Given the description of an element on the screen output the (x, y) to click on. 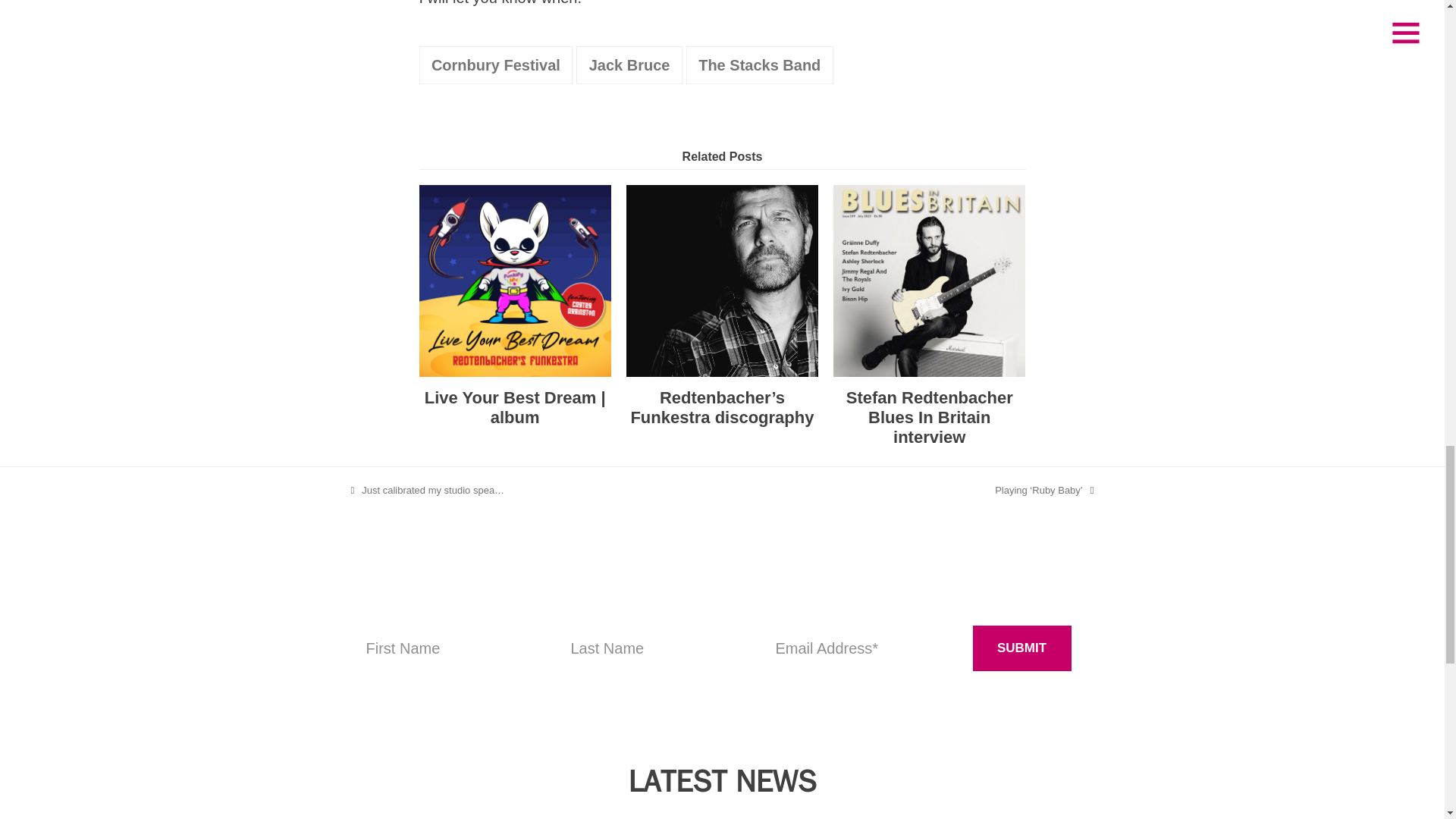
Jack Bruce (629, 64)
Stefan Redtenbacher Blues In Britain interview (929, 417)
Cornbury Festival (495, 64)
Stefan Redtenbacher Blues In Britain interview (928, 279)
Submit (1021, 647)
The Stacks Band (758, 64)
Submit (1021, 647)
